Given the description of an element on the screen output the (x, y) to click on. 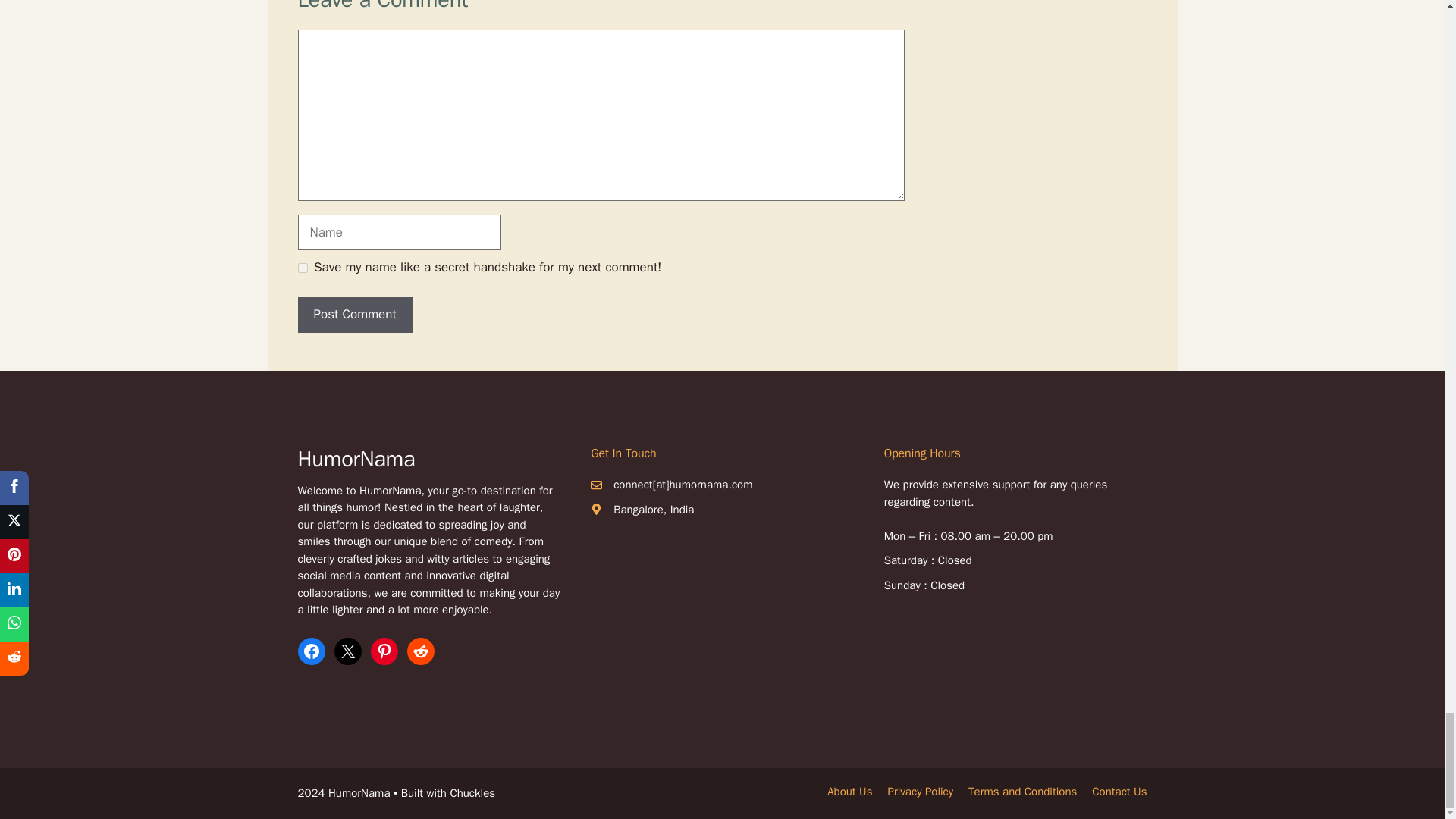
Post Comment (354, 314)
Post Comment (354, 314)
yes (302, 267)
